Given the description of an element on the screen output the (x, y) to click on. 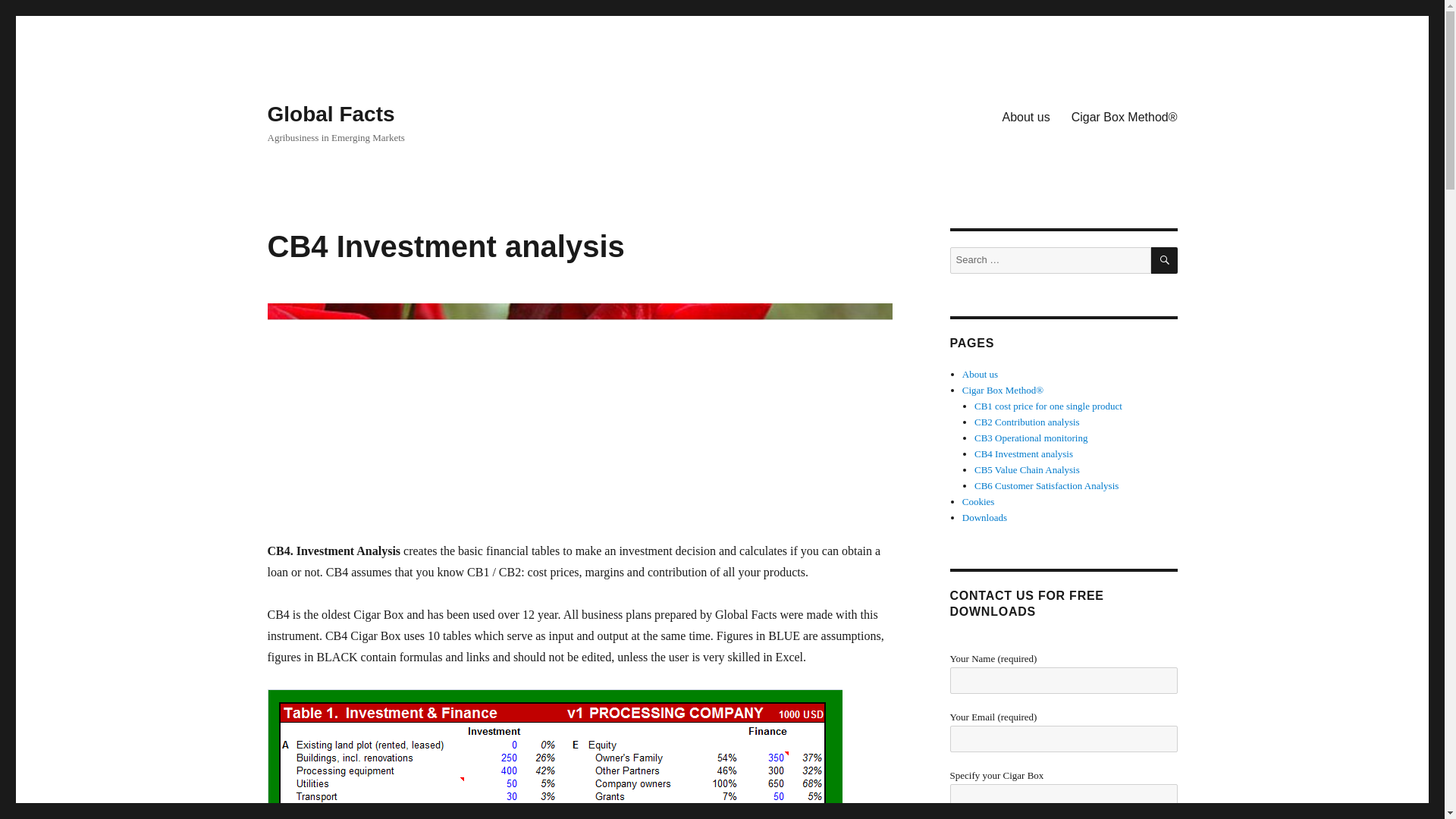
SEARCH (1164, 260)
CB4 Investment analysis (1023, 453)
About us (1025, 116)
Global Facts (330, 114)
CB1 cost price for one single product (1048, 405)
CB2 Contribution analysis (1027, 421)
CB5 Value Chain Analysis (1027, 469)
CB6 Customer Satisfaction Analysis (1046, 485)
Cookies (978, 501)
About us (979, 374)
